Given the description of an element on the screen output the (x, y) to click on. 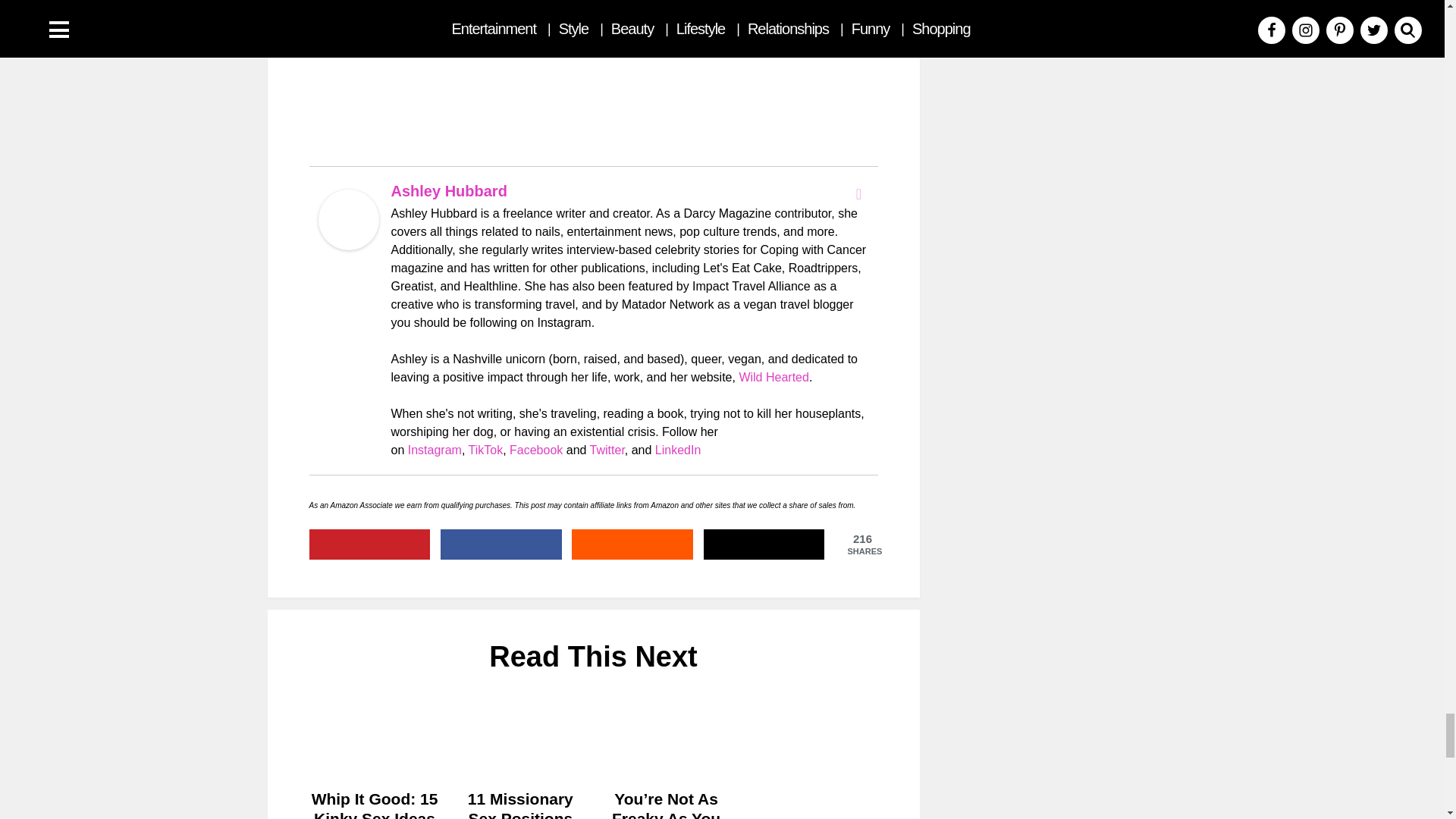
Share on X (764, 544)
Save to Pinterest (369, 544)
Share on Facebook (501, 544)
Twitter (857, 194)
Share on Reddit (632, 544)
